Given the description of an element on the screen output the (x, y) to click on. 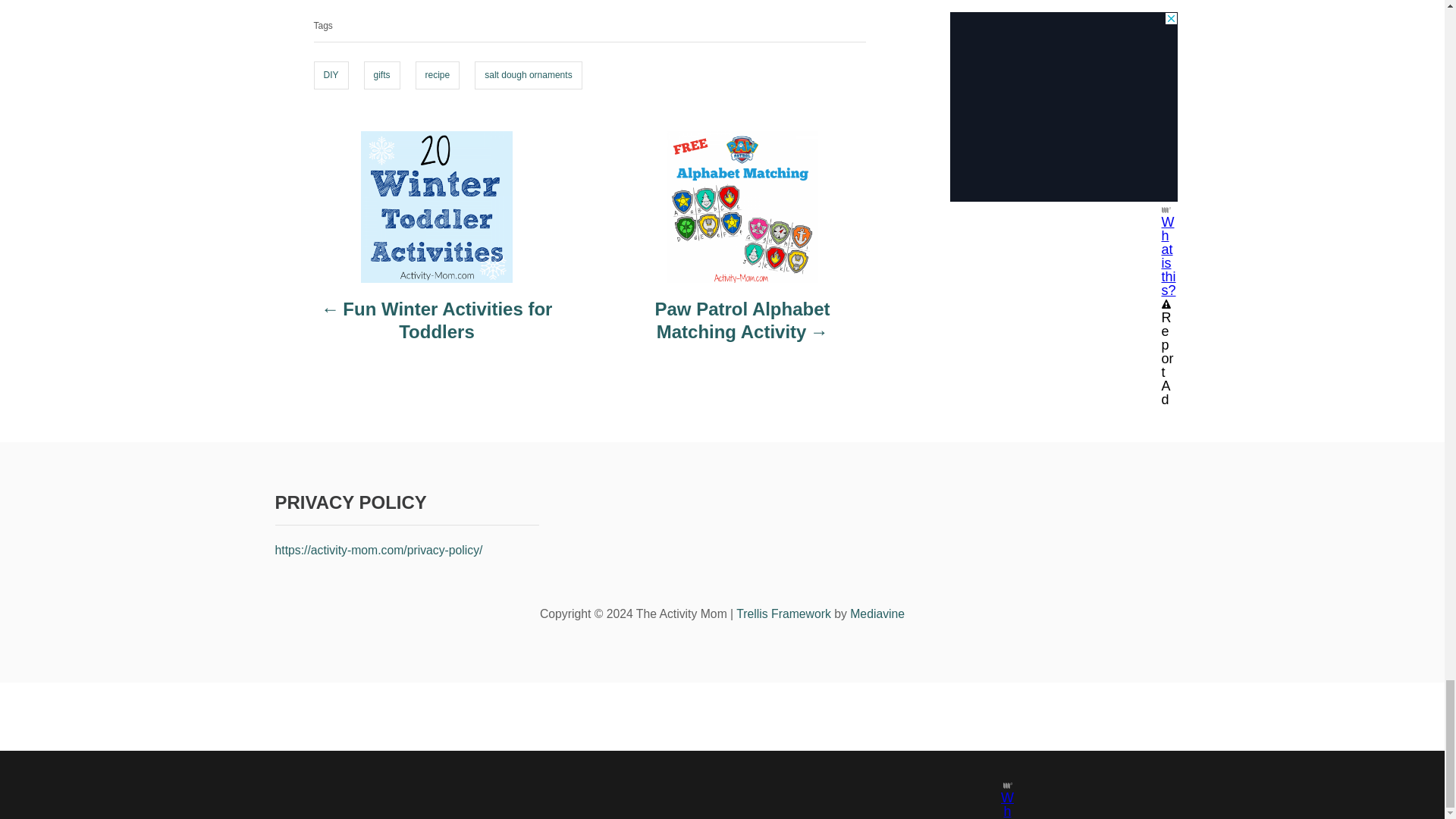
Fun Winter Activities for Toddlers (437, 328)
gifts (382, 75)
Paw Patrol Alphabet Matching Activity (741, 328)
DIY (331, 75)
Trellis Framework (783, 613)
recipe (437, 75)
salt dough ornaments (527, 75)
Mediavine (877, 613)
